Given the description of an element on the screen output the (x, y) to click on. 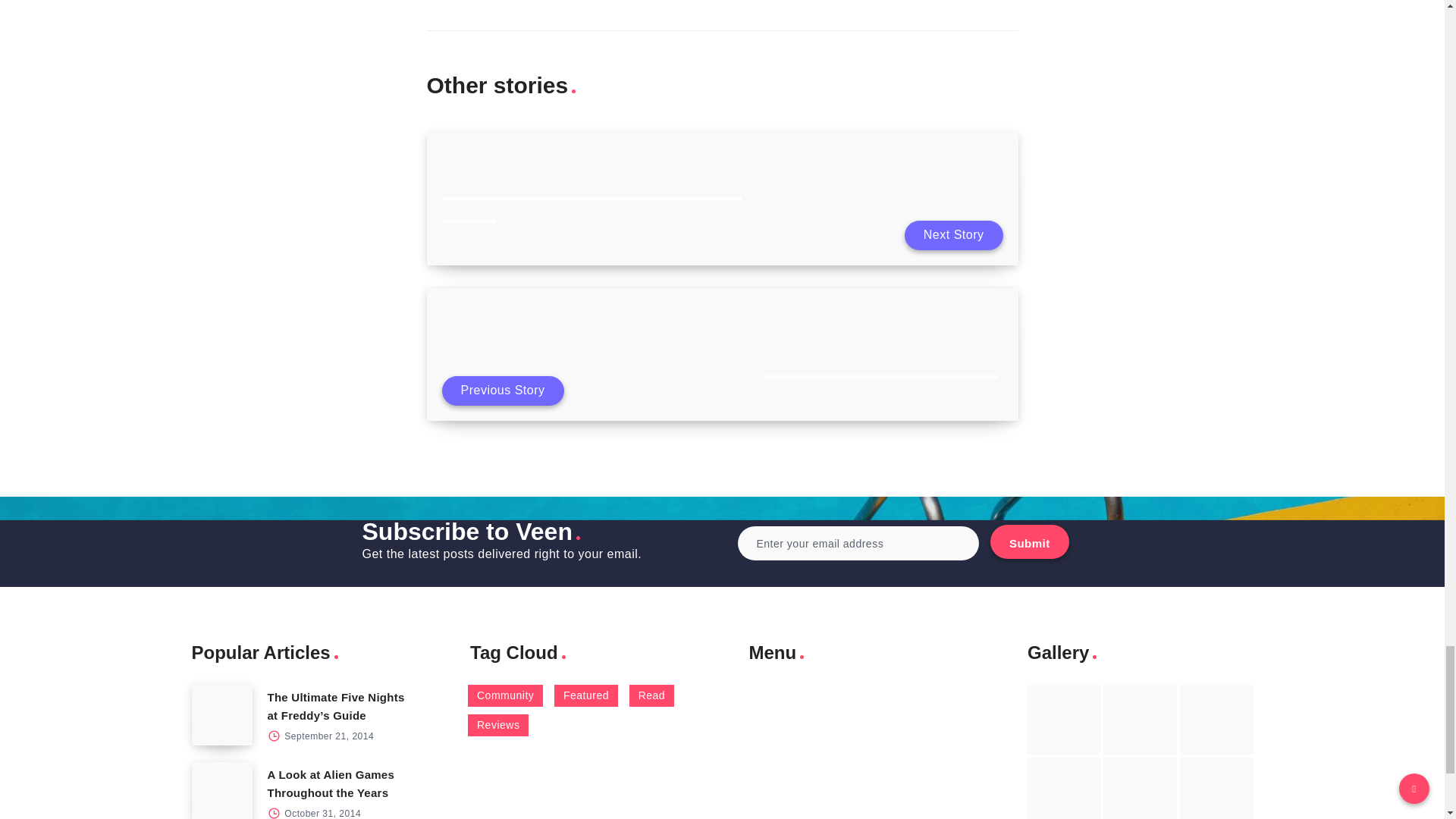
Retro Camera (1139, 719)
Old music caption (1216, 719)
Just a nice paint (1139, 788)
Pink paper over blue background (1063, 719)
